Given the description of an element on the screen output the (x, y) to click on. 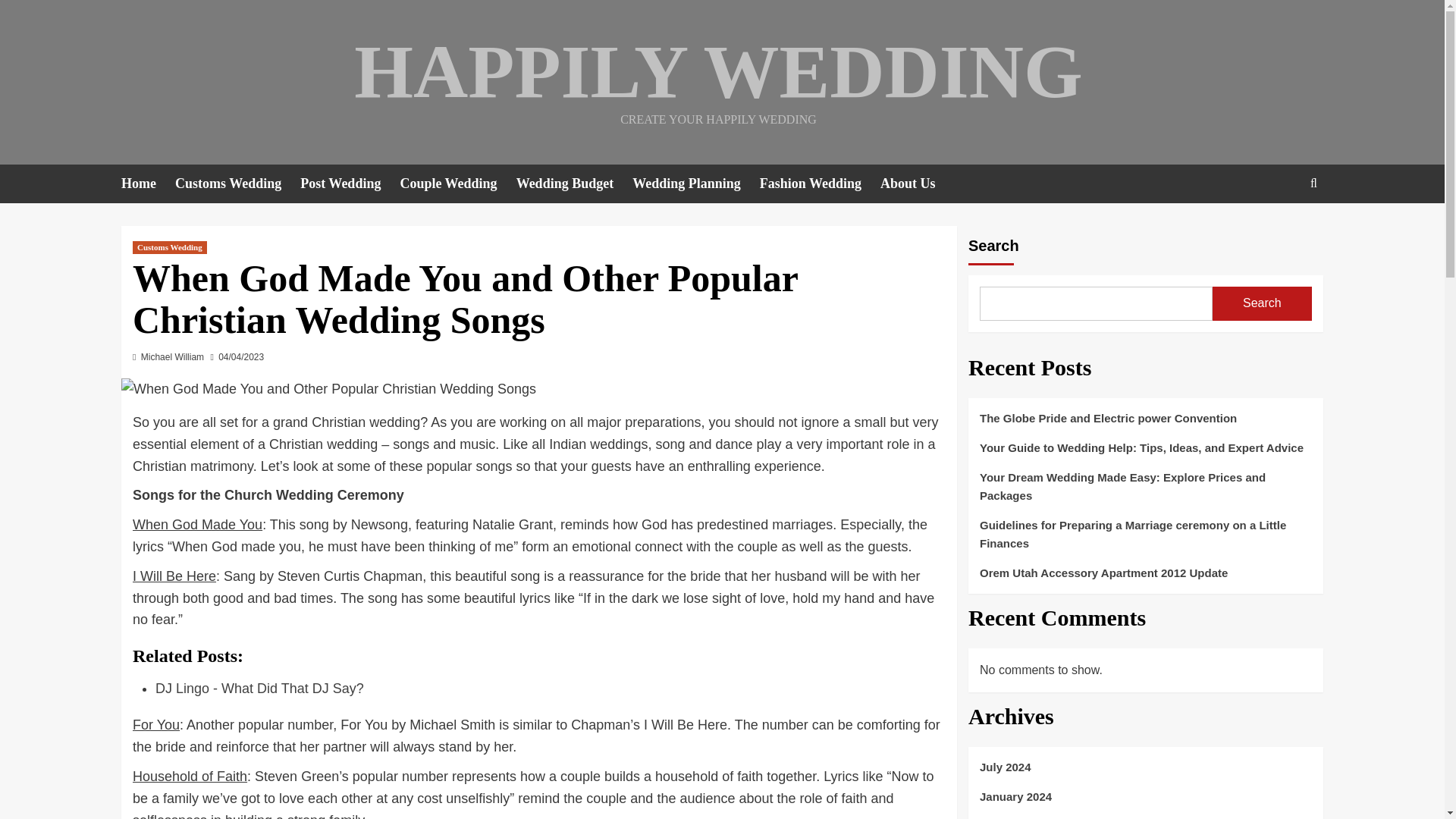
Customs Wedding (236, 183)
About Us (917, 183)
Home (147, 183)
Customs Wedding (169, 246)
Michael William (172, 357)
Wedding Planning (695, 183)
Search (1313, 182)
Search (1278, 229)
DJ Lingo - What Did That DJ Say? (259, 688)
HAPPILY WEDDING (717, 71)
Wedding Budget (574, 183)
Post Wedding (348, 183)
Fashion Wedding (820, 183)
When God Made You and Other Popular Christian Wedding Songs (327, 389)
Couple Wedding (456, 183)
